Given the description of an element on the screen output the (x, y) to click on. 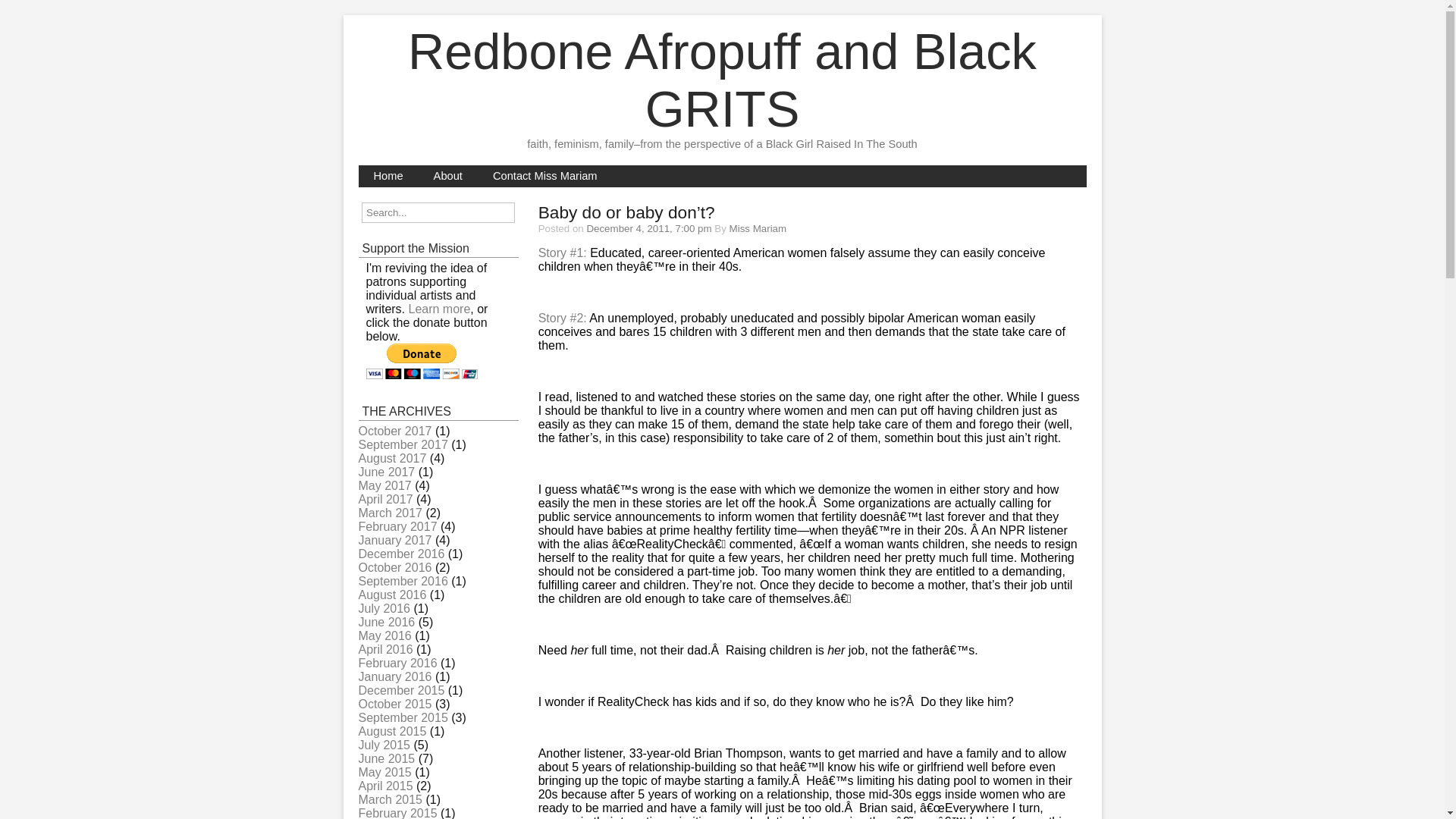
Learn more (438, 308)
Search... (438, 212)
June 2016 (386, 621)
Home (387, 176)
On CreoleInDC: Angel Adams (562, 318)
December 2015 (401, 689)
Redbone Afropuff and Black GRITS (721, 80)
March 2017 (390, 512)
Redbone Afropuff and Black GRITS (721, 80)
April 2016 (385, 649)
December 2016 (401, 553)
April 2015 (385, 785)
August 2016 (392, 594)
October 2015 (394, 703)
August 2017 (392, 458)
